Given the description of an element on the screen output the (x, y) to click on. 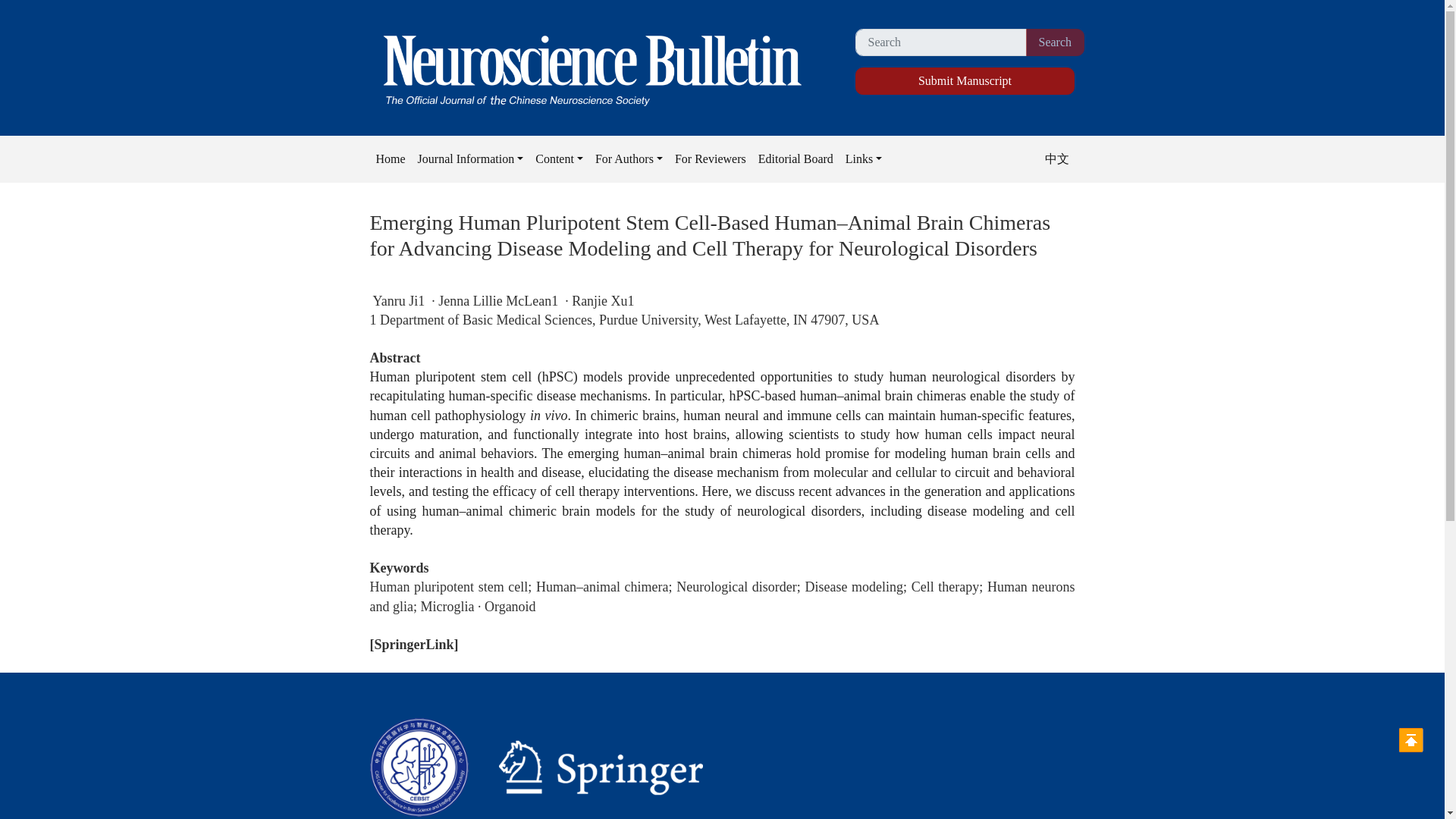
Submit Manuscript (965, 81)
SpringerLink (414, 644)
Search (1054, 42)
Links (864, 158)
For Reviewers (710, 158)
Journal Information (470, 158)
Editorial Board (796, 158)
Home (390, 158)
Content (559, 158)
For Authors (628, 158)
